Given the description of an element on the screen output the (x, y) to click on. 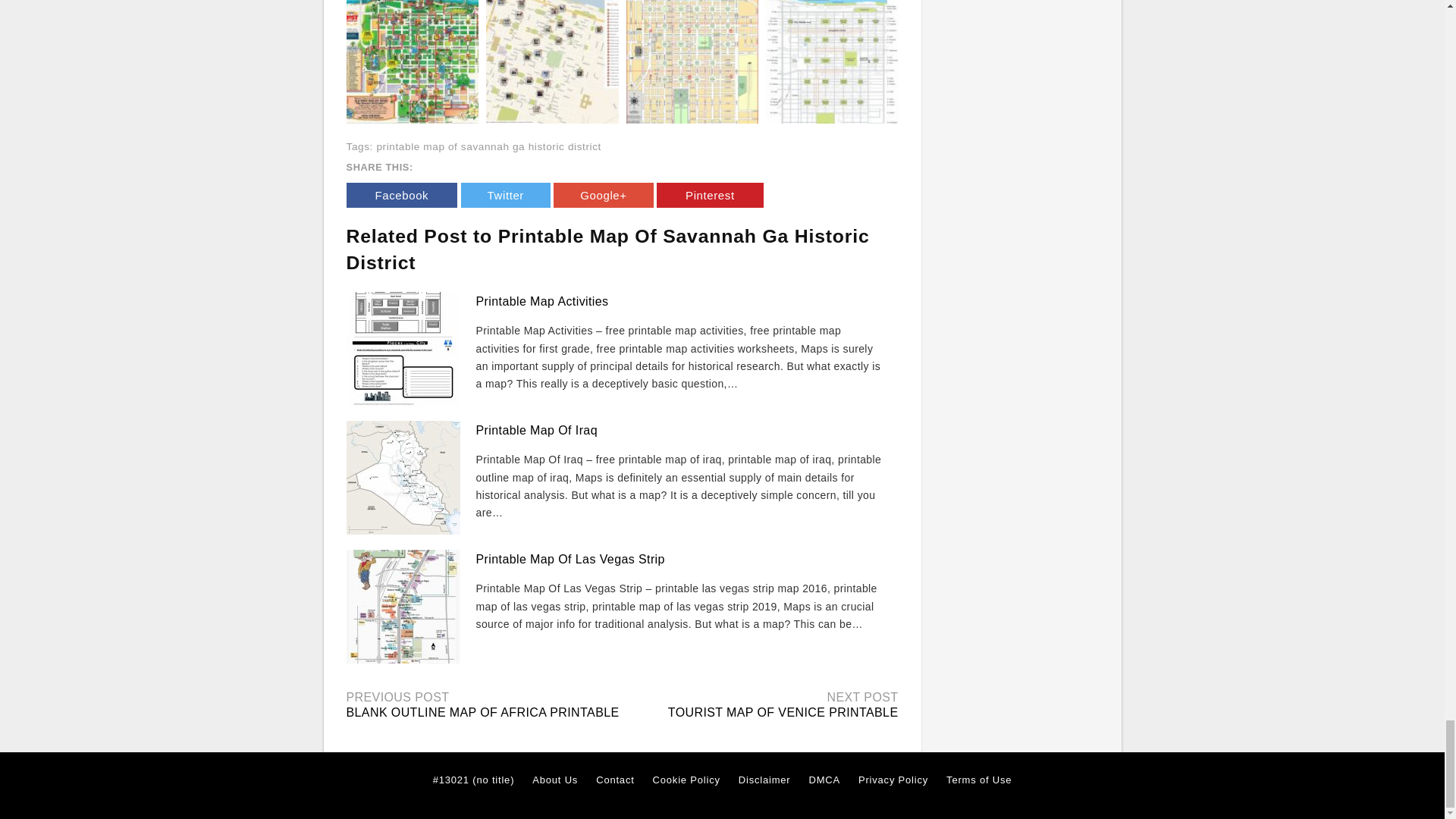
TOURIST MAP OF VENICE PRINTABLE (783, 712)
Twitter (505, 195)
Printable Map Of Las Vegas Strip (570, 558)
printable map of savannah ga historic district (488, 146)
Printable Map Of Iraq (536, 430)
Printable Map Activities (542, 300)
BLANK OUTLINE MAP OF AFRICA PRINTABLE (482, 712)
Facebook (401, 195)
Pinterest (709, 195)
